Given the description of an element on the screen output the (x, y) to click on. 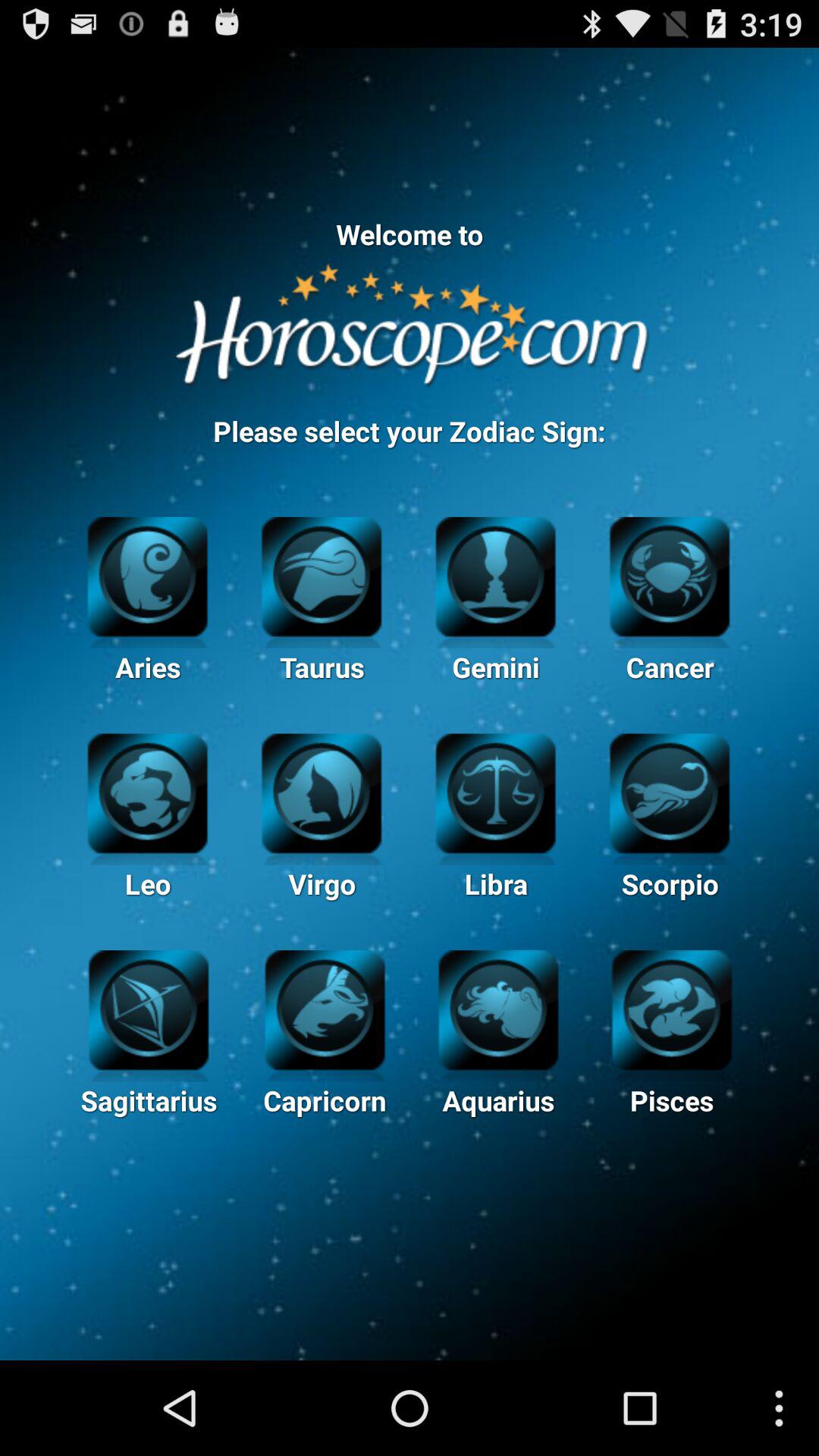
select aquarius (498, 1007)
